Given the description of an element on the screen output the (x, y) to click on. 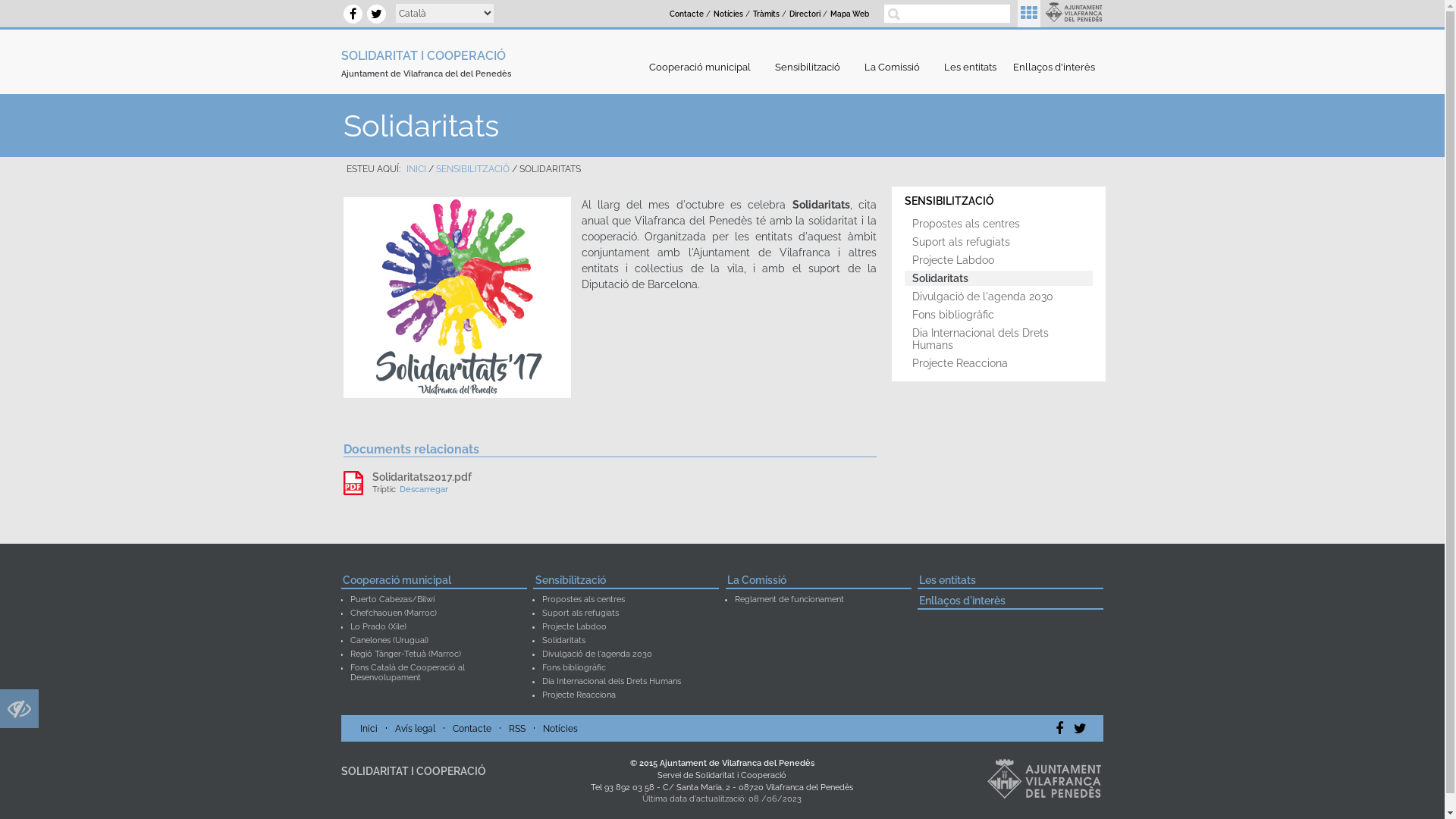
Contacte Element type: text (686, 14)
Accessibilitat Element type: hover (19, 712)
Propostes als centres Element type: text (583, 599)
Mapa Web Element type: text (849, 14)
Chefchaouen (Marroc) Element type: text (393, 613)
Dia Internacional dels Drets Humans Element type: text (611, 681)
Inici Element type: text (368, 728)
INICI Element type: text (416, 168)
Solidaritats Element type: text (563, 640)
Directori Element type: text (804, 14)
Puerto Cabezas/Bilwi Element type: text (392, 599)
Projecte Labdoo Element type: text (998, 259)
Les entitats Element type: text (1010, 581)
Solidaritats Element type: text (998, 277)
Contacte Element type: text (471, 728)
Reglament de funcionament Element type: text (788, 599)
Projecte Reacciona Element type: text (578, 694)
Suport als refugiats Element type: text (998, 241)
Suport als refugiats Element type: text (580, 613)
Canelones (Uruguai) Element type: text (389, 640)
Les entitats Element type: text (970, 66)
Projecte Reacciona Element type: text (998, 362)
RSS Element type: text (516, 728)
Propostes als centres Element type: text (998, 223)
Dia Internacional dels Drets Humans Element type: text (998, 338)
Projecte Labdoo Element type: text (574, 626)
Lo Prado (Xile) Element type: text (378, 626)
